Given the description of an element on the screen output the (x, y) to click on. 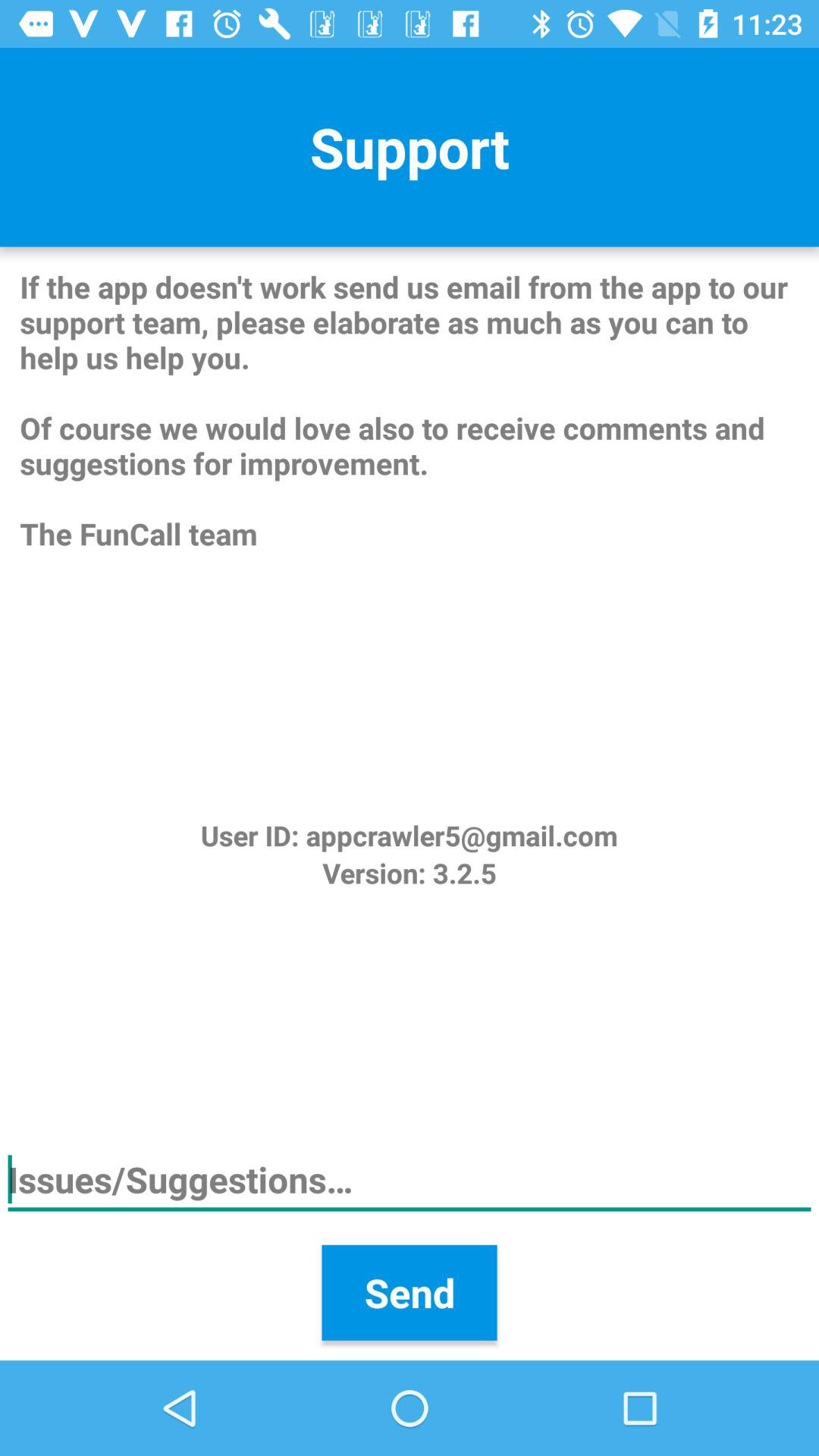
launch user id appcrawler5 item (408, 835)
